Given the description of an element on the screen output the (x, y) to click on. 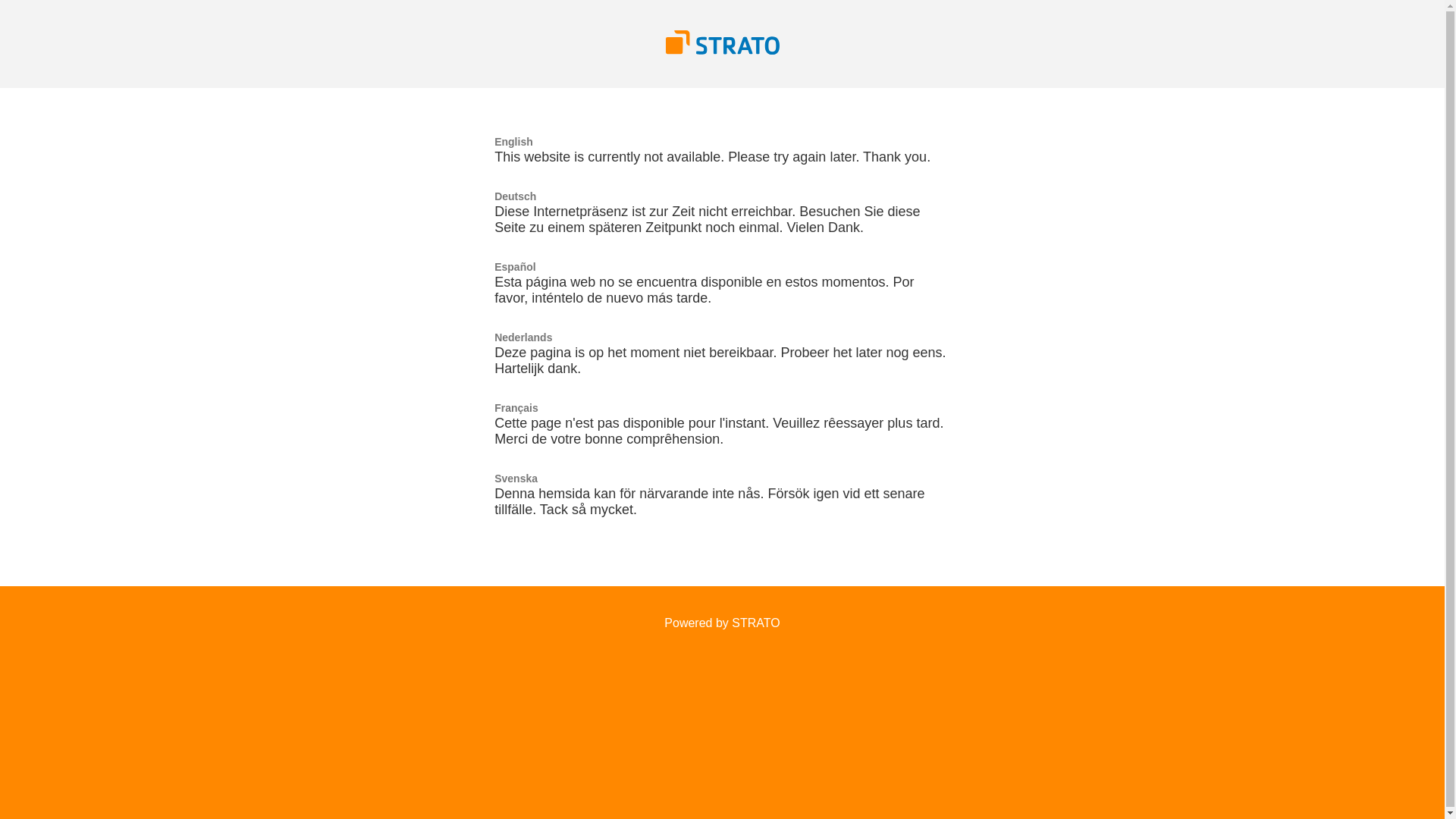
Powered by STRATO Element type: text (721, 622)
